Given the description of an element on the screen output the (x, y) to click on. 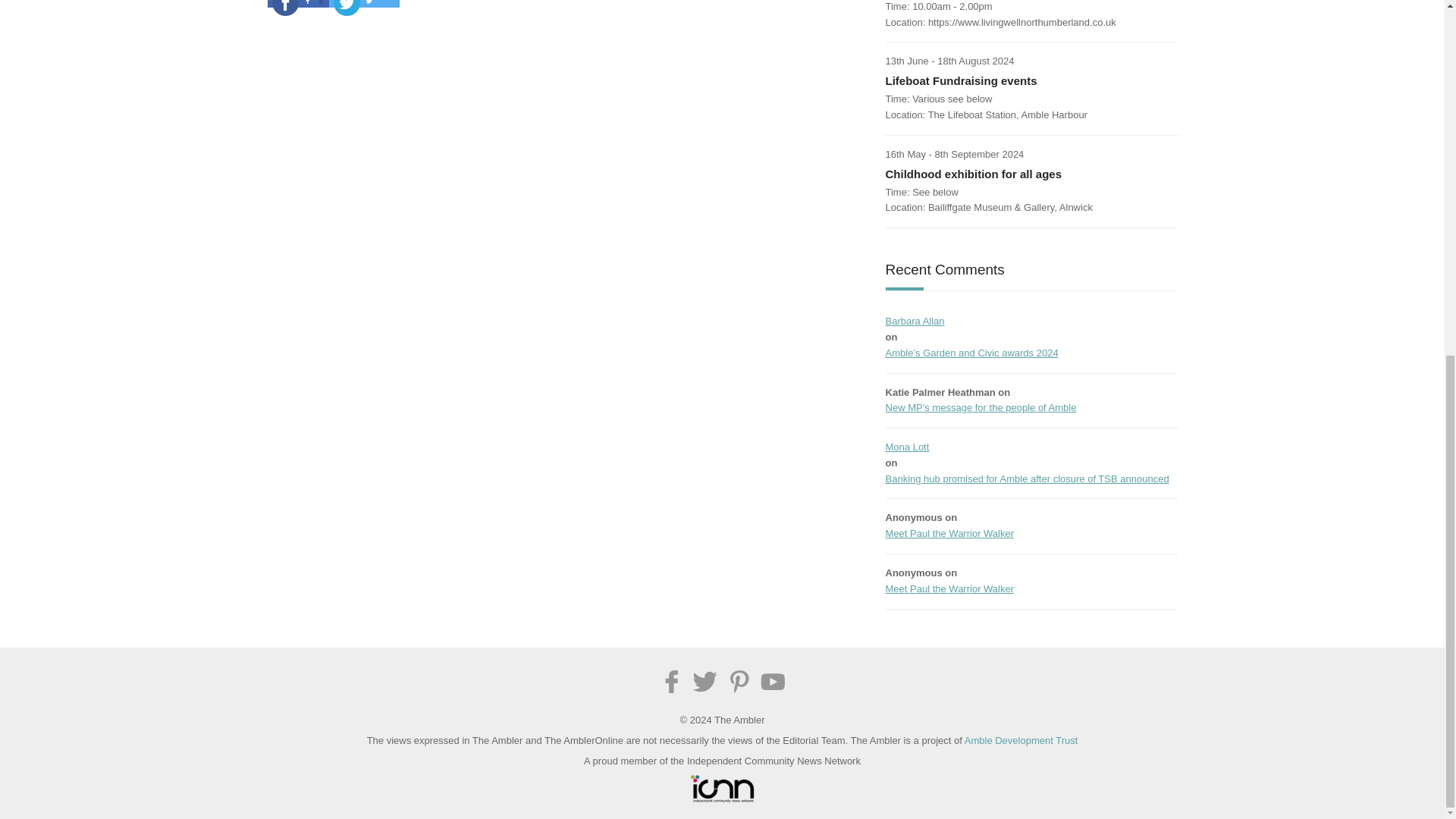
facebook (284, 10)
twitter (347, 10)
